Given the description of an element on the screen output the (x, y) to click on. 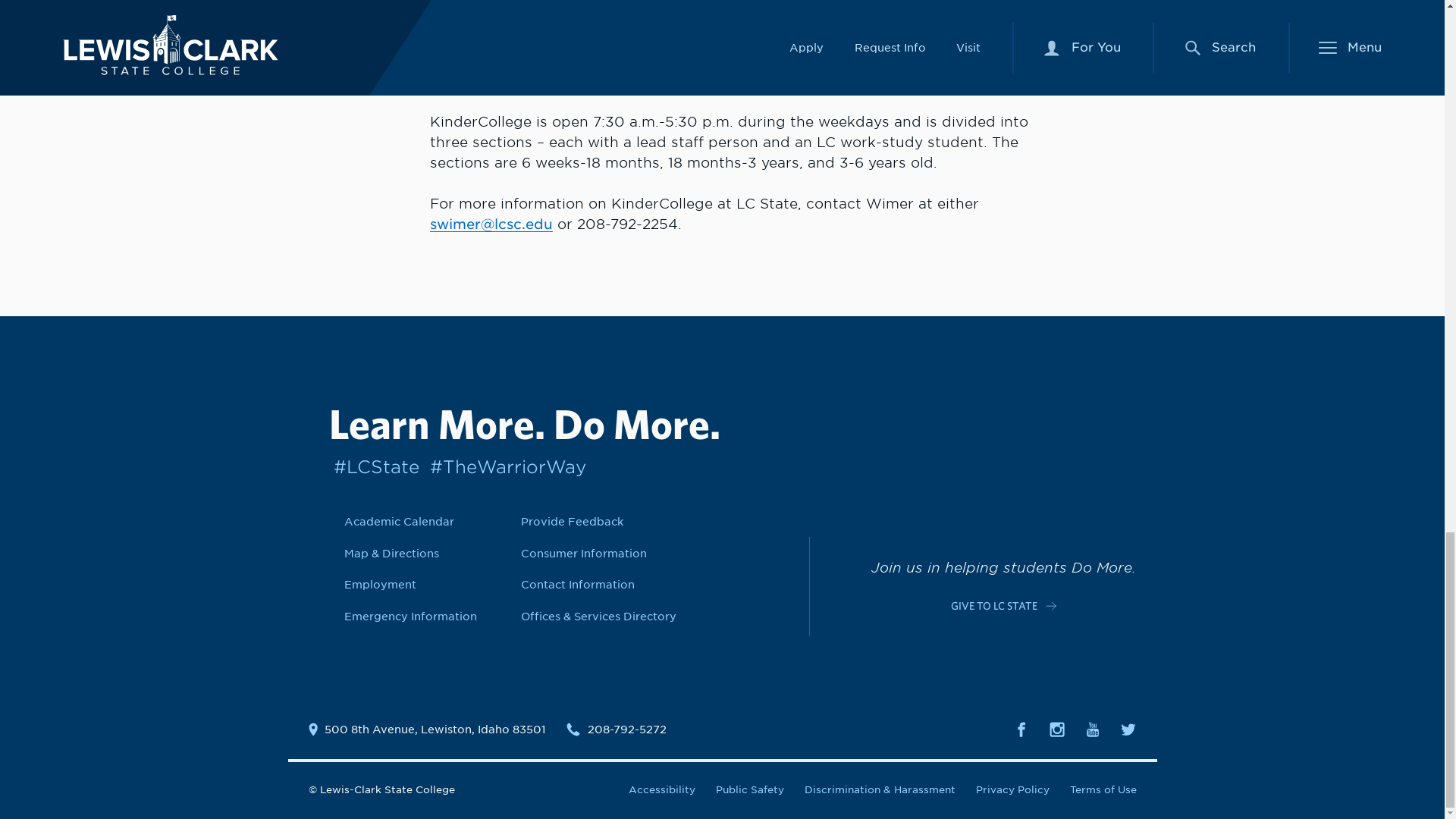
ARROW-RIGHT--LINE (1051, 605)
facebook--solid (1020, 729)
twitter--solid (1128, 729)
calls--solid (572, 729)
Sarah Wimer (491, 223)
instagram--solid (1056, 729)
youtube--solid (1092, 729)
